Given the description of an element on the screen output the (x, y) to click on. 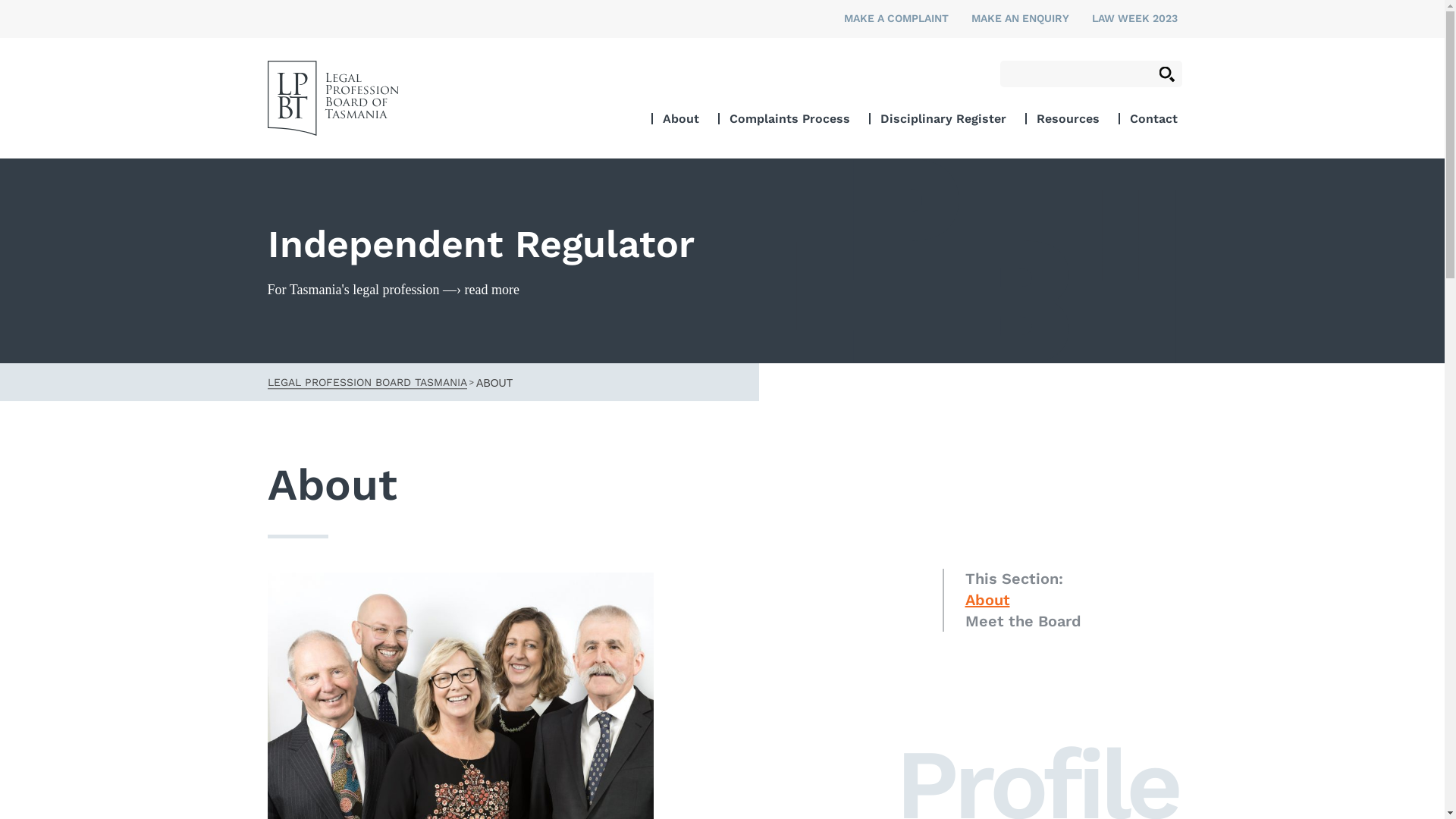
Resources Element type: text (1066, 118)
MAKE A COMPLAINT Element type: text (895, 18)
LEGAL PROFESSION BOARD TASMANIA Element type: text (366, 381)
About Element type: text (680, 118)
Contact Element type: text (1153, 118)
Complaints Process Element type: text (789, 118)
Meet the Board Element type: text (1022, 620)
Home Element type: text (332, 97)
MAKE AN ENQUIRY Element type: text (1019, 18)
LAW WEEK 2023 Element type: text (1134, 18)
read more Element type: text (491, 289)
Disciplinary Register Element type: text (942, 118)
Search Element type: text (1166, 73)
About Element type: text (986, 599)
